Given the description of an element on the screen output the (x, y) to click on. 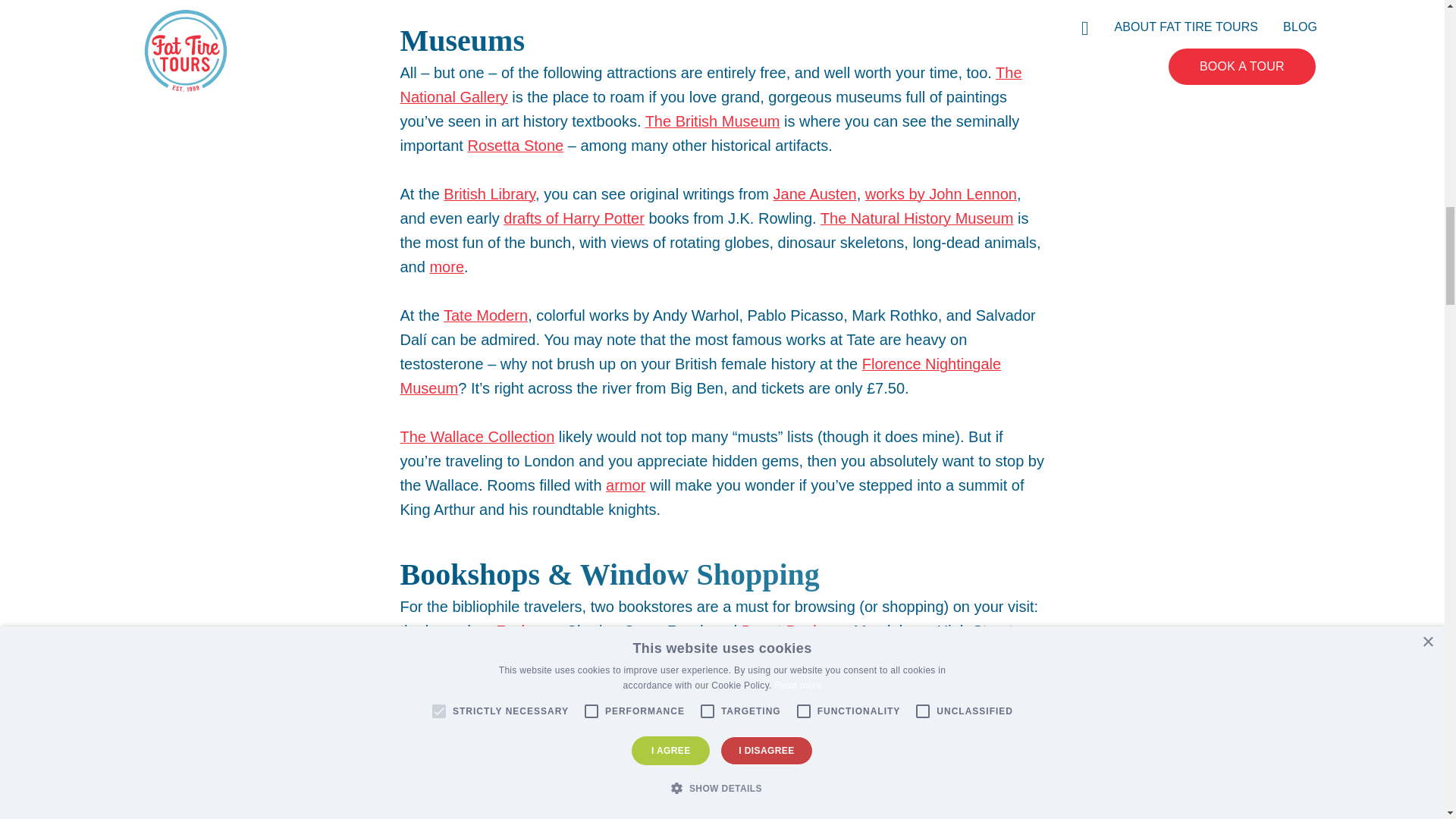
Selfridges (953, 776)
Foyles (518, 630)
British Library (489, 193)
The National Gallery (711, 84)
drafts of Harry Potter (574, 217)
Jane Austen (815, 193)
House of Fraser (720, 788)
Tate Modern (485, 315)
Daunt Books (784, 630)
armor (625, 484)
works by John Lennon (940, 193)
The British Museum (712, 121)
The Natural History Museum (917, 217)
The Wallace Collection (477, 436)
book-lined indoor balcony (835, 727)
